Given the description of an element on the screen output the (x, y) to click on. 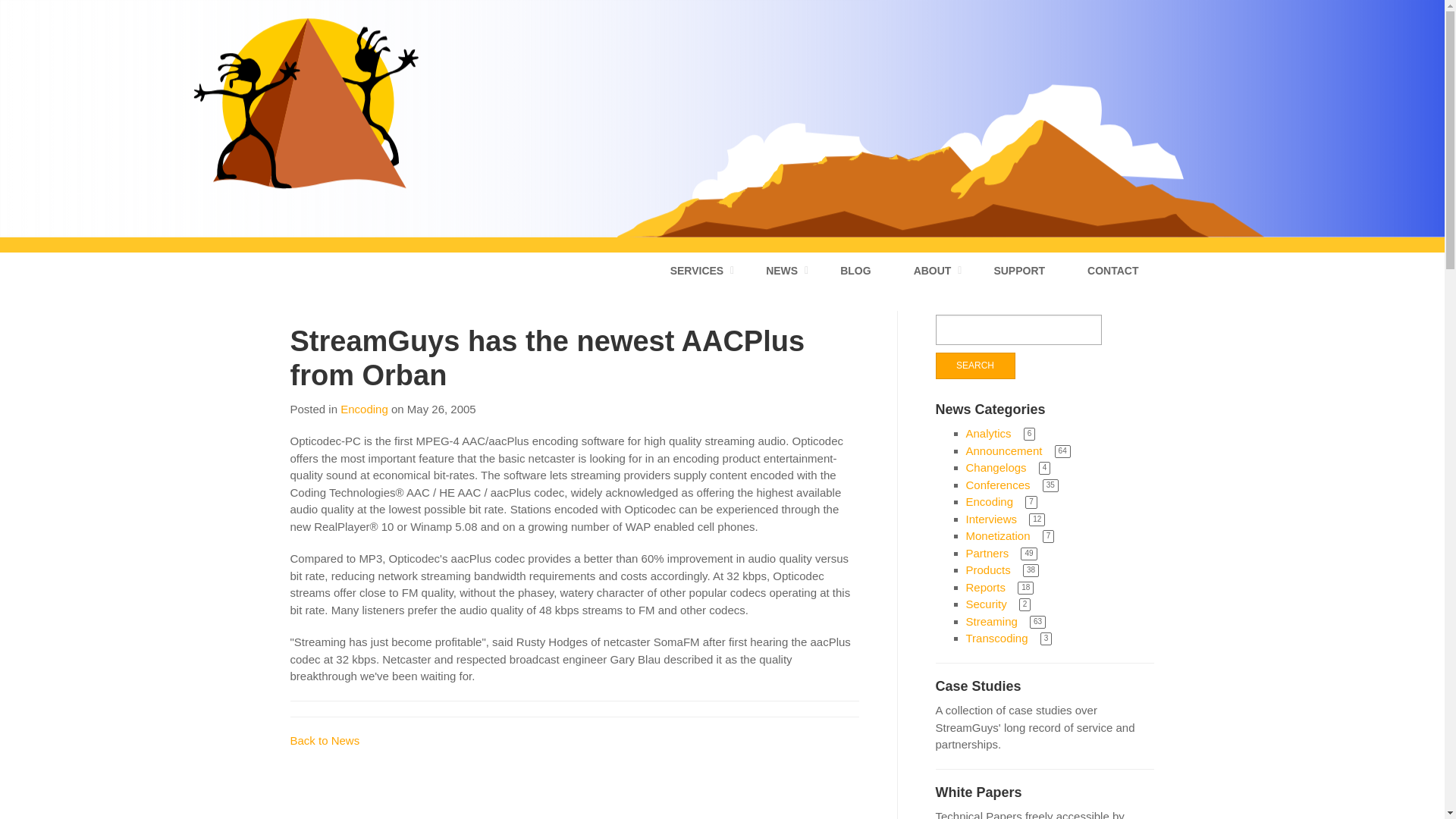
SERVICES (697, 270)
